Given the description of an element on the screen output the (x, y) to click on. 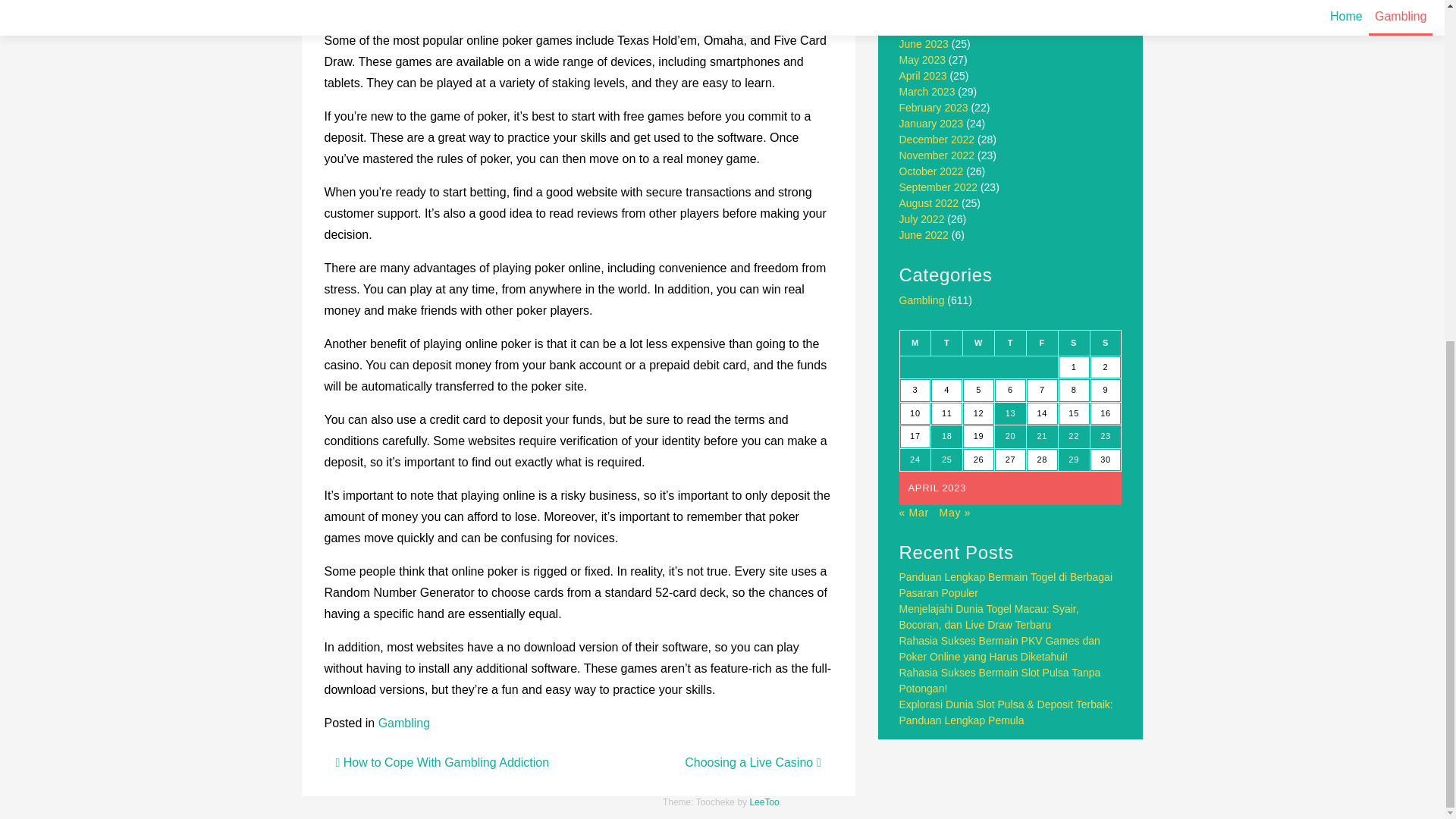
Gambling (921, 300)
February 2023 (933, 107)
Tuesday (946, 342)
Monday (915, 342)
June 2023 (924, 43)
Thursday (1010, 342)
3 (915, 390)
Gambling (403, 722)
January 2023 (931, 123)
1 (1074, 367)
Sunday (1105, 342)
December 2022 (937, 139)
April 2023 (923, 75)
August 2022 (929, 203)
September 2022 (938, 186)
